Given the description of an element on the screen output the (x, y) to click on. 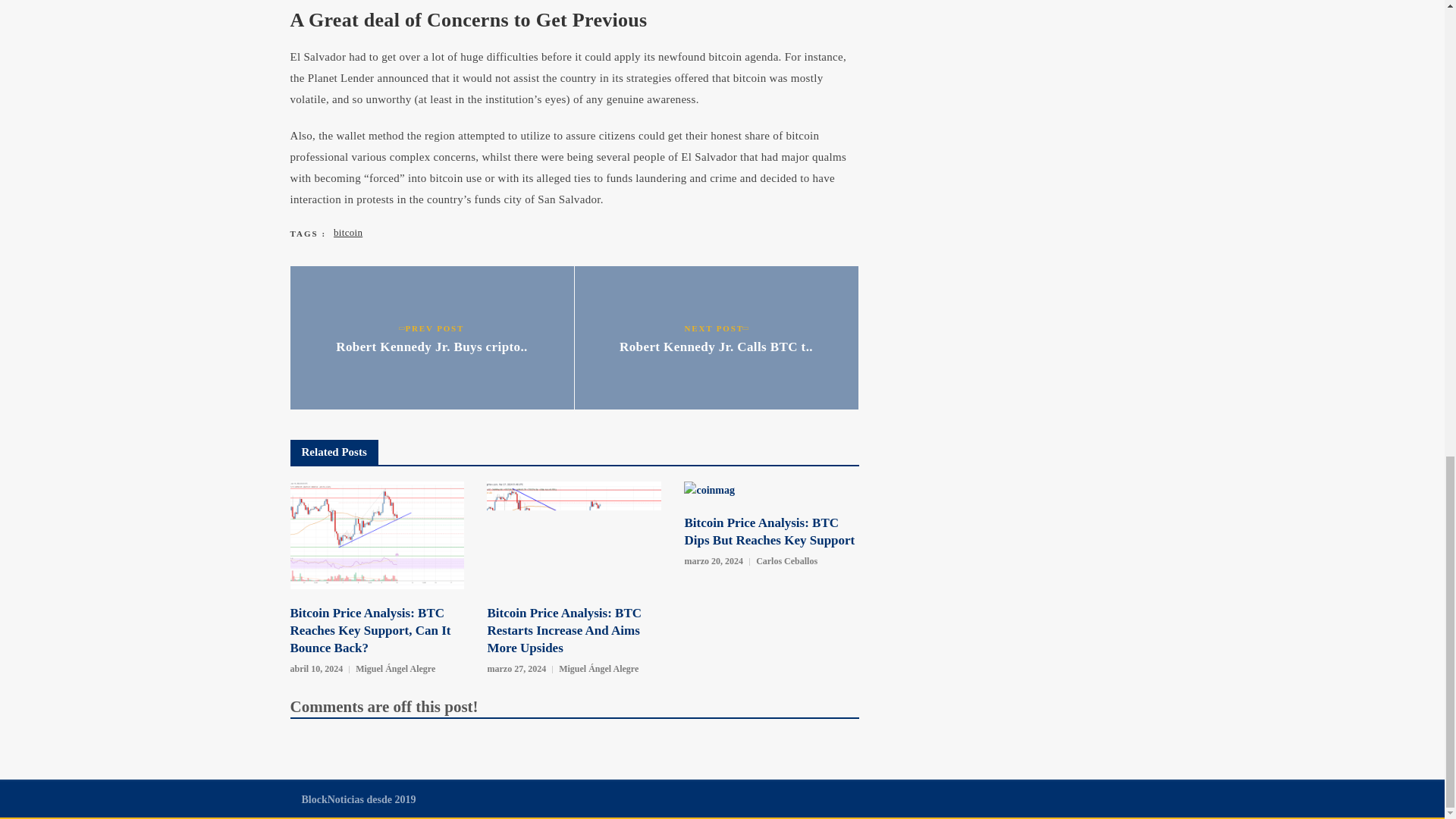
marzo 27, 2024 7:00 (516, 669)
marzo 20, 2024 8:30 (713, 561)
abril 10, 2024 3:55 (315, 669)
Entradas de Carlos Ceballos (785, 561)
